Given the description of an element on the screen output the (x, y) to click on. 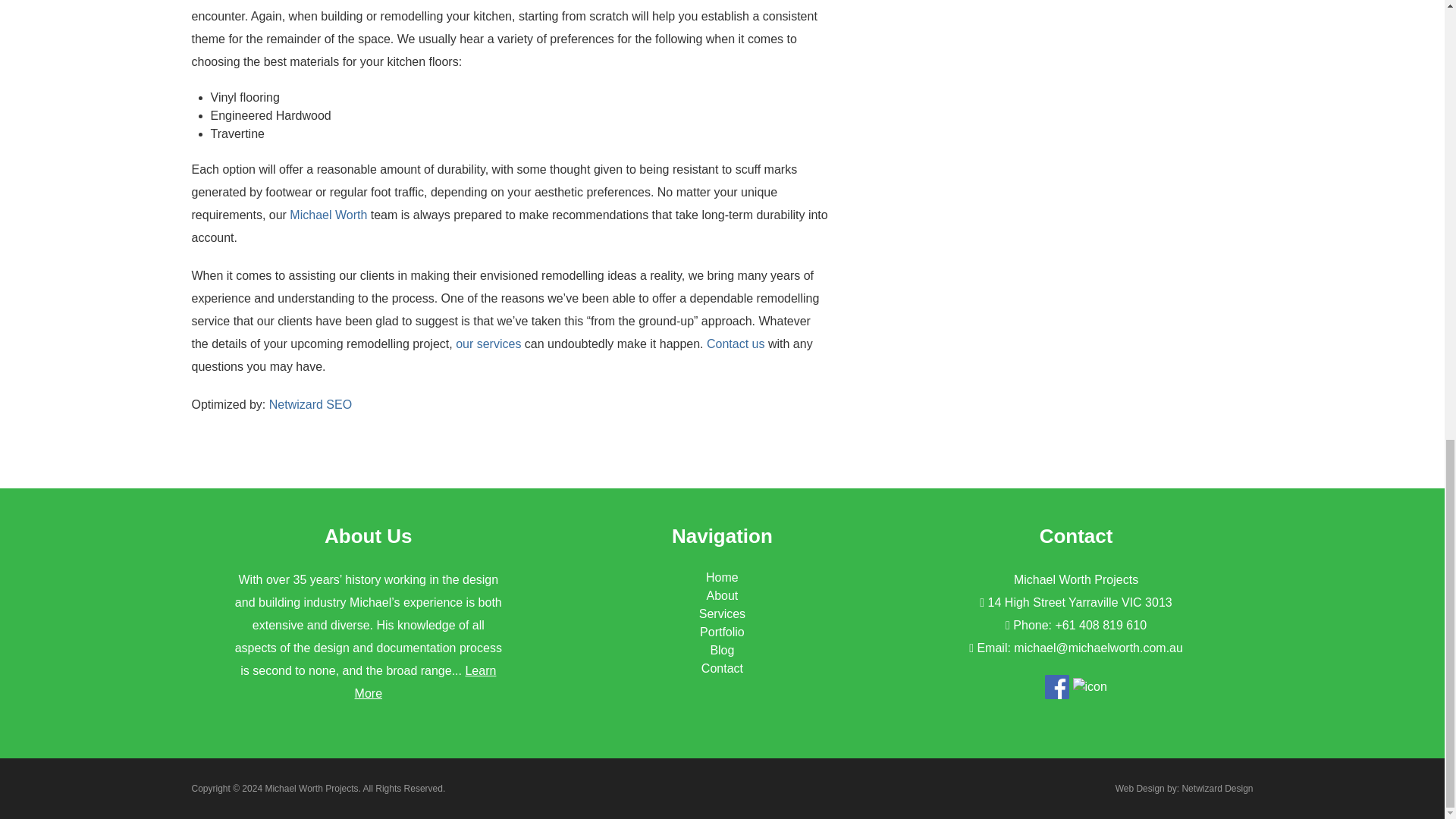
Netwizard Design (1216, 787)
Portfolio (722, 631)
Contact us (735, 343)
Michael Worth (327, 214)
Blog (721, 649)
Services (721, 613)
About (722, 594)
Learn More (425, 682)
Contact (721, 667)
Home (722, 576)
our services (488, 343)
Netwizard SEO (310, 404)
